Given the description of an element on the screen output the (x, y) to click on. 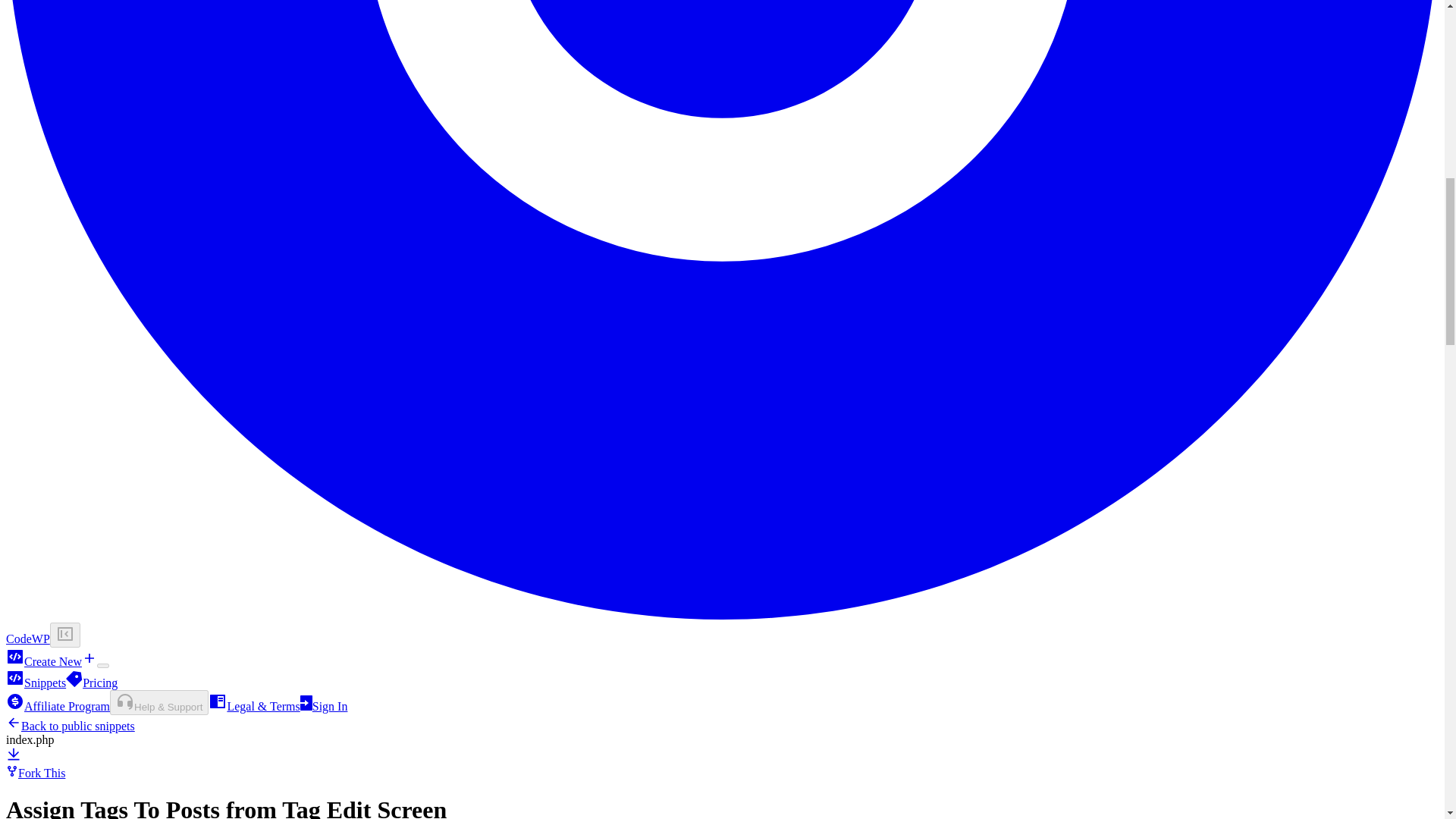
Create New (51, 661)
Pricing (91, 682)
Sign In (323, 706)
Back to public snippets (70, 725)
Affiliate Program (57, 706)
Snippets (35, 682)
Fork This (35, 772)
